Given the description of an element on the screen output the (x, y) to click on. 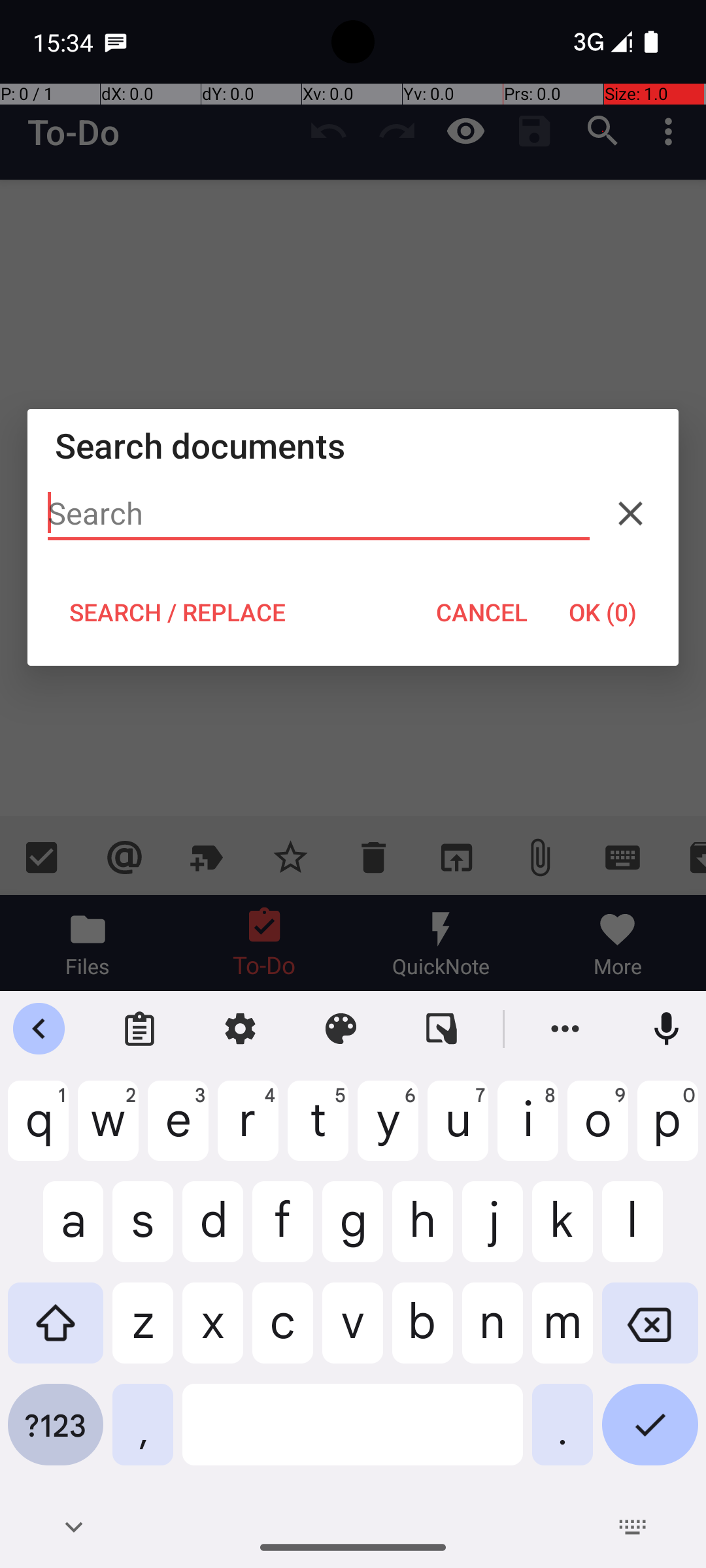
Search documents Element type: android.widget.TextView (352, 445)
SEARCH / REPLACE Element type: android.widget.Button (176, 611)
OK (0) Element type: android.widget.Button (602, 611)
Theme settings Element type: android.widget.FrameLayout (340, 1028)
One handed mode Element type: android.widget.FrameLayout (441, 1028)
Done Element type: android.widget.FrameLayout (649, 1434)
